Given the description of an element on the screen output the (x, y) to click on. 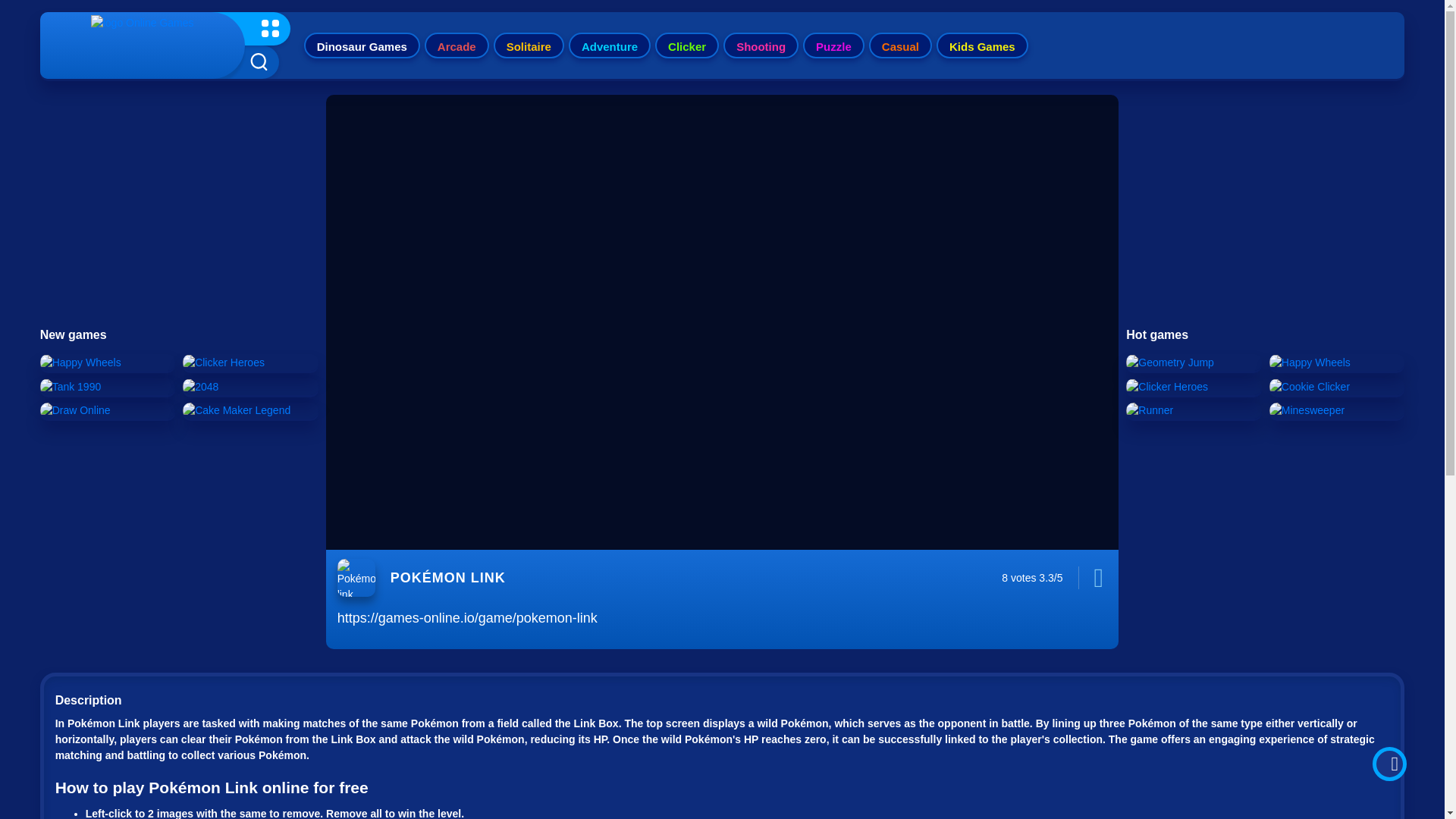
Arcade (457, 45)
Tank 1990 (70, 386)
Casual (900, 45)
Solitaire (528, 45)
Minesweeper (1306, 410)
Puzzle (833, 45)
Kids Games (981, 45)
logo Online Games (141, 45)
Adventure (609, 45)
Clicker Heroes (1166, 386)
2048 (200, 386)
Clicker (687, 45)
Draw Online (75, 410)
Cookie Clicker (1309, 386)
Cake Maker Legend (236, 410)
